Given the description of an element on the screen output the (x, y) to click on. 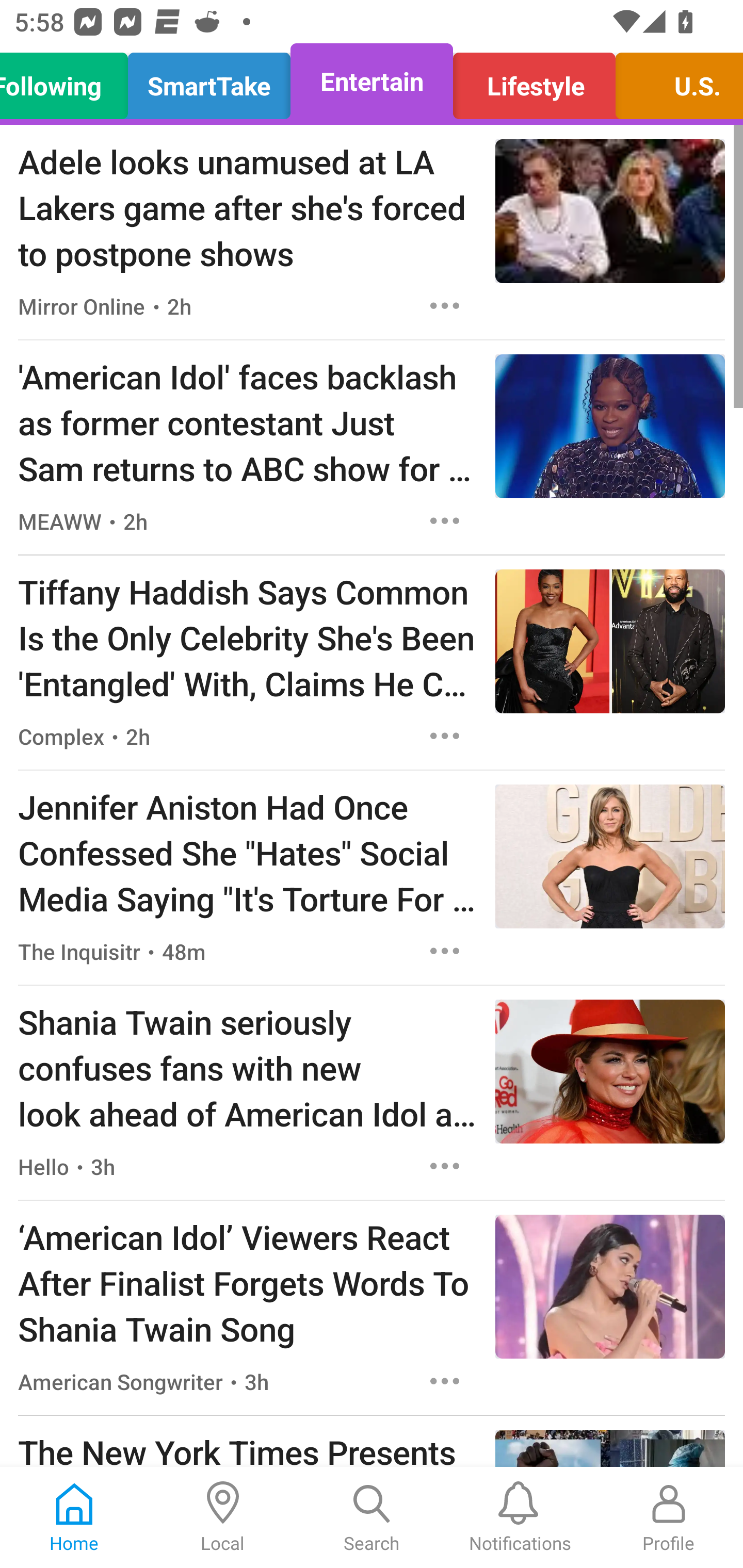
Following (69, 81)
SmartTake (209, 81)
Entertain (371, 81)
Lifestyle (534, 81)
U.S. (673, 81)
Options (444, 305)
Options (444, 520)
Options (444, 736)
Options (444, 950)
Options (444, 1166)
Options (444, 1381)
Local (222, 1517)
Search (371, 1517)
Notifications (519, 1517)
Profile (668, 1517)
